Given the description of an element on the screen output the (x, y) to click on. 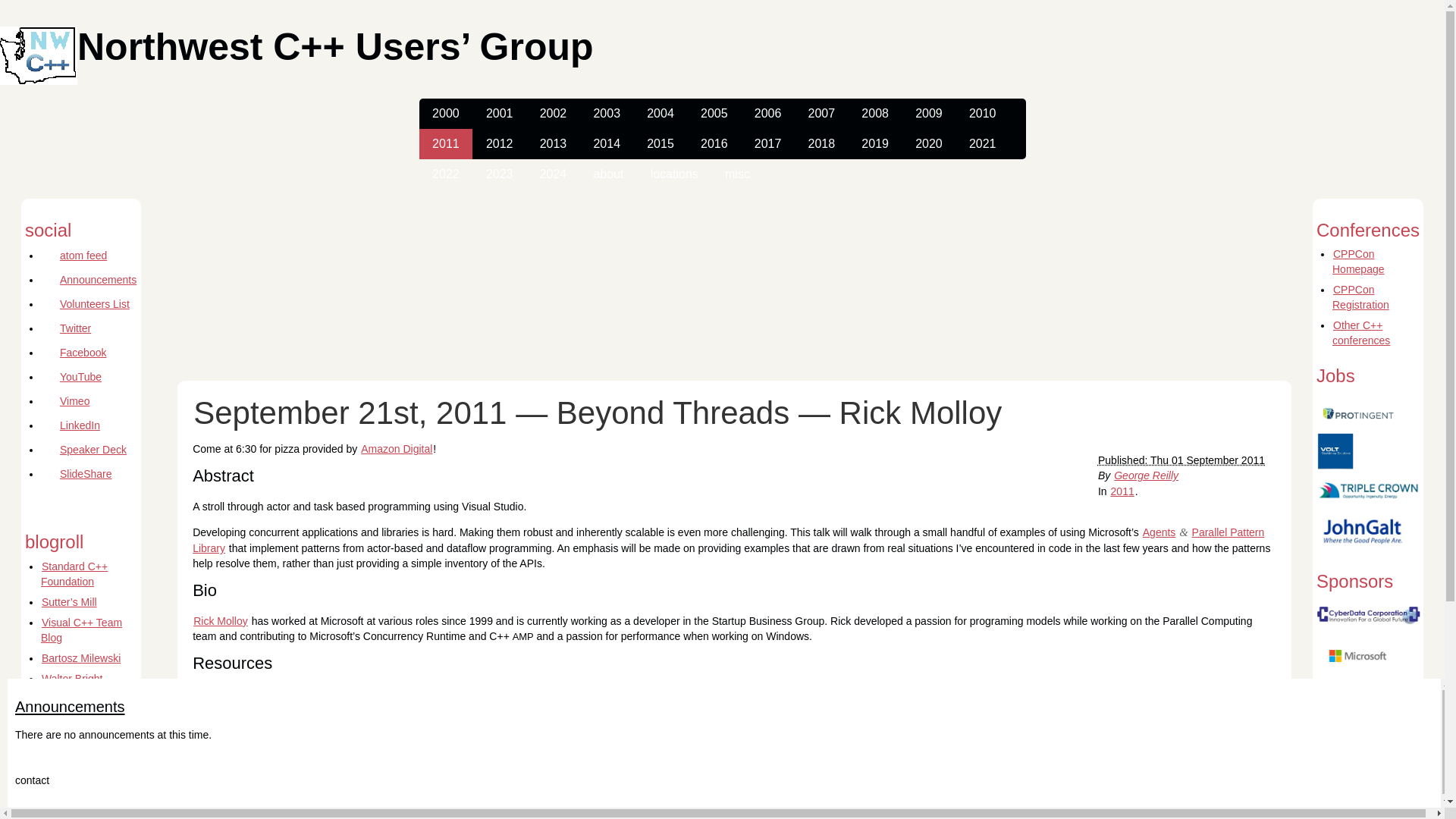
2011 (445, 143)
2007 (821, 113)
2011-09-01T00:00:00-07:00 (1181, 460)
2015 (660, 143)
YouTube (70, 377)
2008 (875, 113)
2000 (445, 113)
Announcements (88, 279)
2013 (552, 143)
2019 (875, 143)
